Given the description of an element on the screen output the (x, y) to click on. 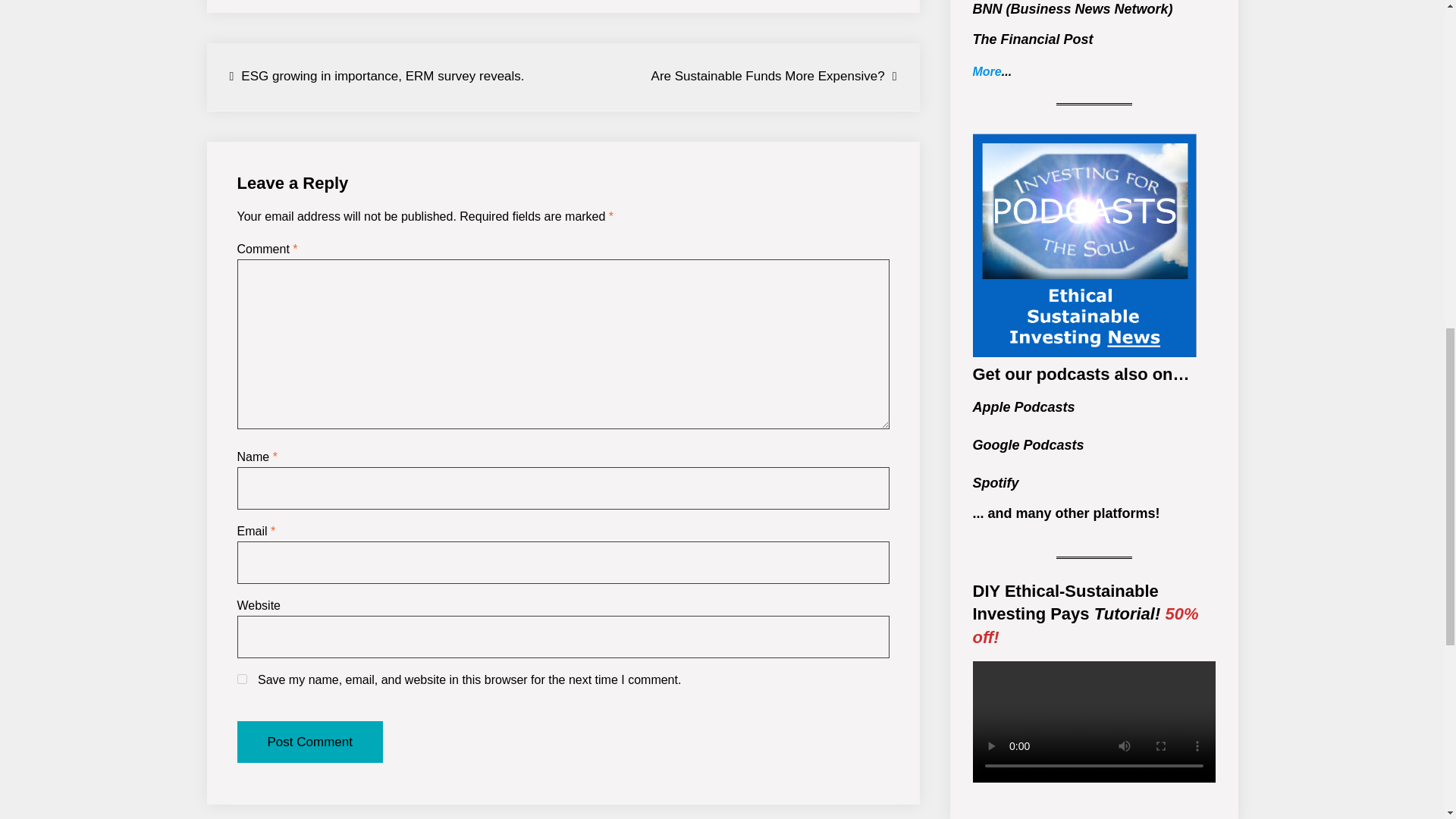
yes (240, 678)
More (986, 71)
ESG growing in importance, ERM survey reveals. (376, 76)
Are Sustainable Funds More Expensive? (773, 76)
Post Comment (308, 742)
our podcasts (1056, 374)
Post Comment (308, 742)
